Given the description of an element on the screen output the (x, y) to click on. 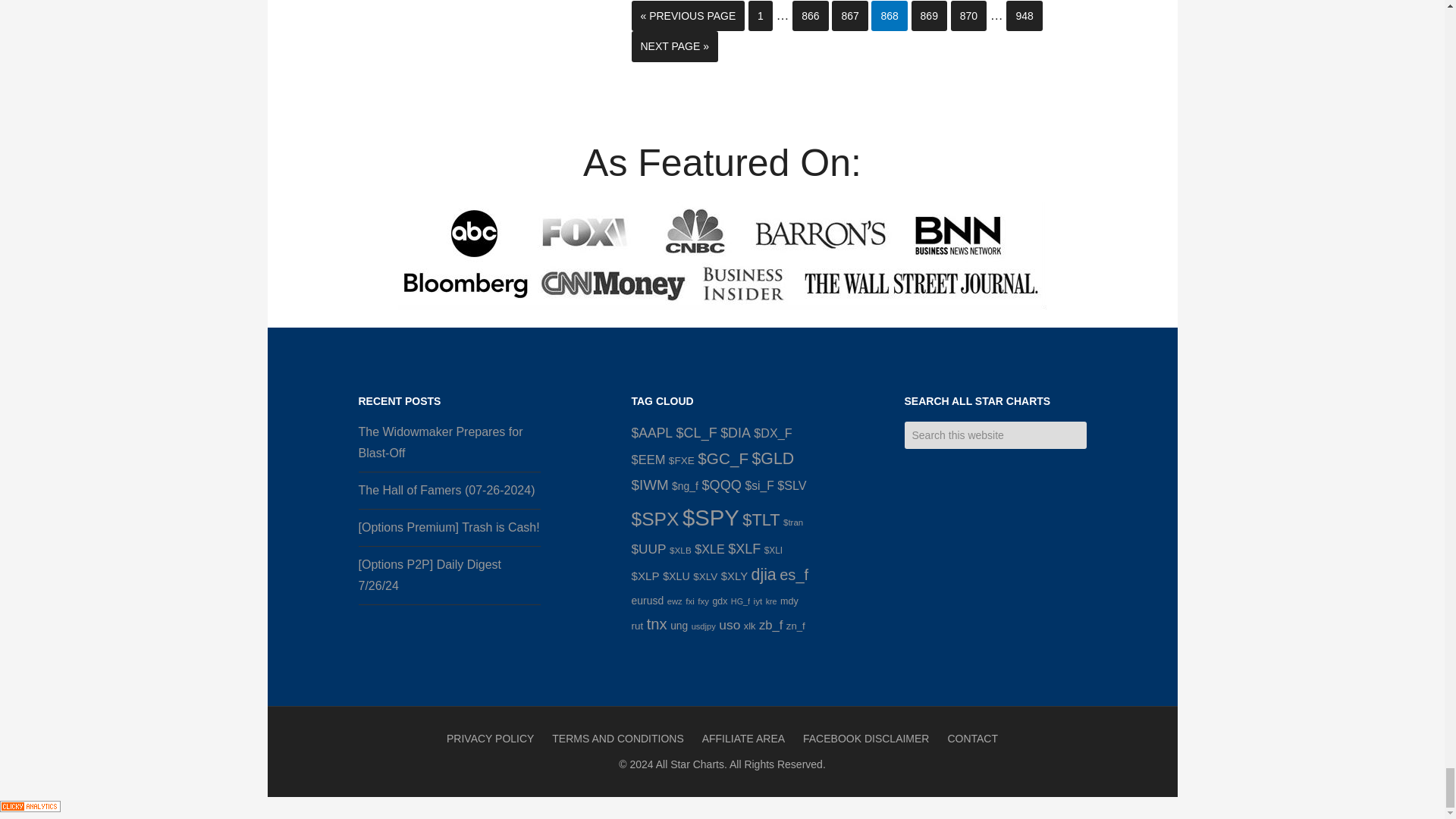
Real Time Analytics (30, 807)
Search (1097, 427)
Search (1097, 427)
